Given the description of an element on the screen output the (x, y) to click on. 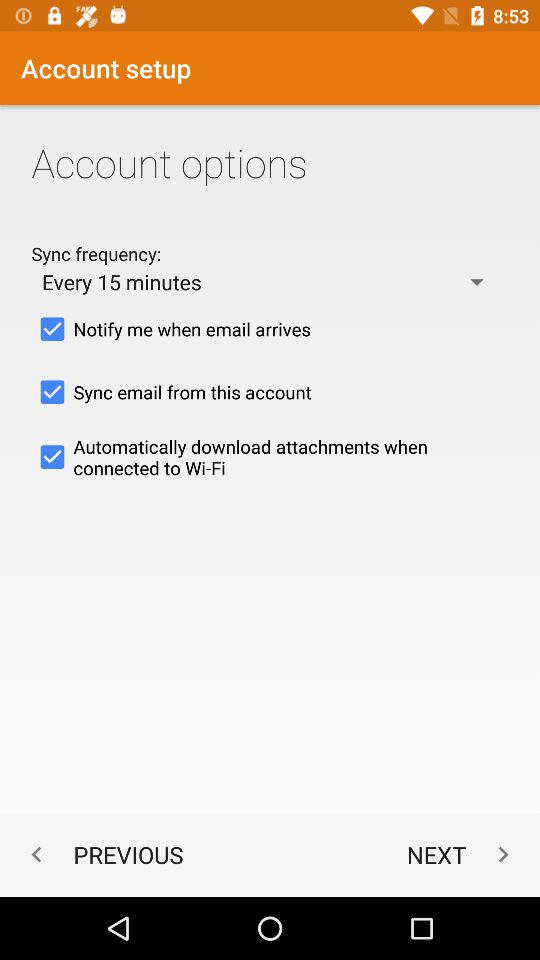
launch icon to the right of the previous app (462, 854)
